Given the description of an element on the screen output the (x, y) to click on. 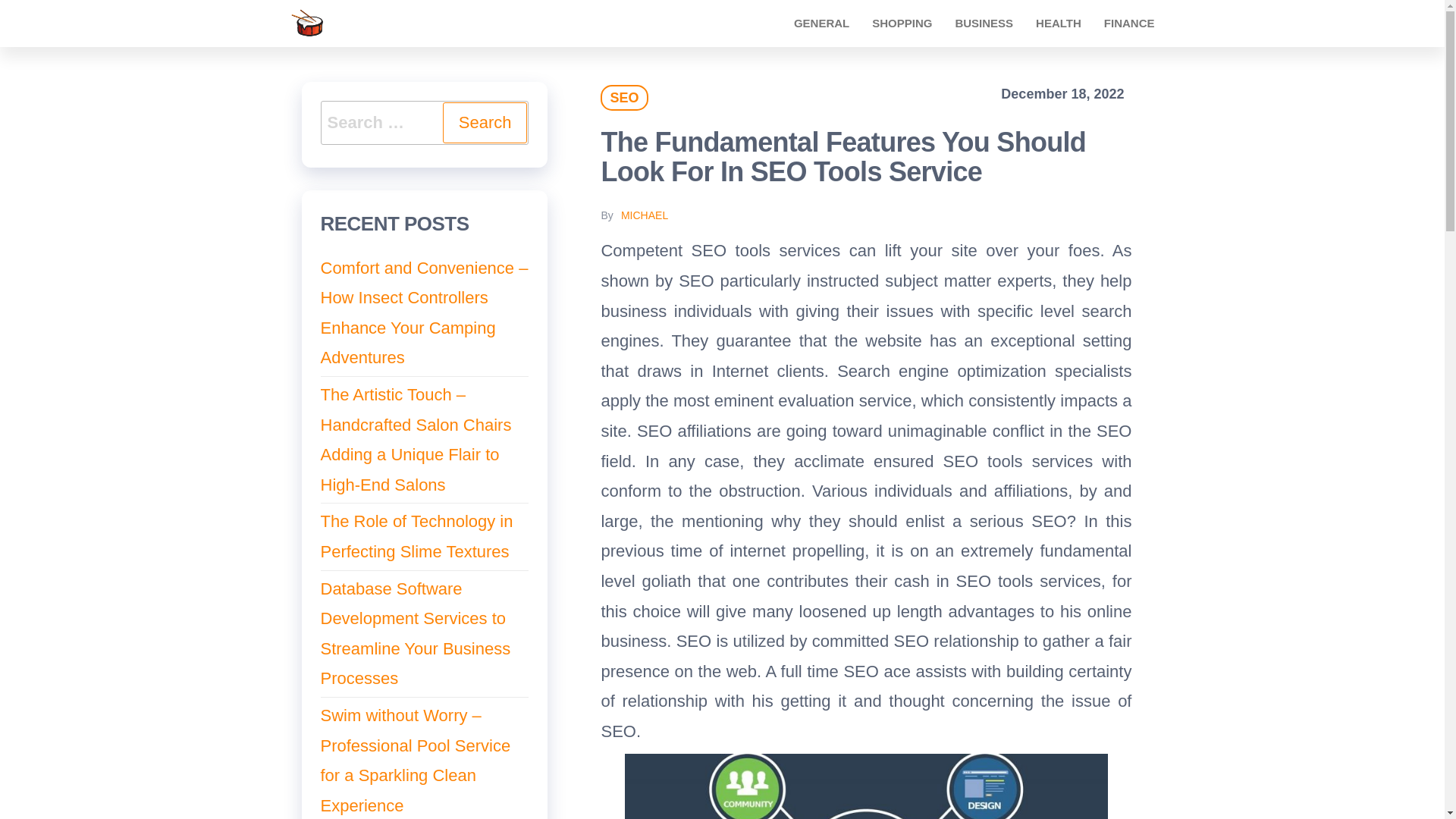
Search (484, 122)
Shopping (901, 22)
Health (1059, 22)
Finance (1129, 22)
MICHAEL (644, 215)
Any Drum (445, 25)
General (821, 22)
Search (484, 122)
SHOPPING (901, 22)
